Given the description of an element on the screen output the (x, y) to click on. 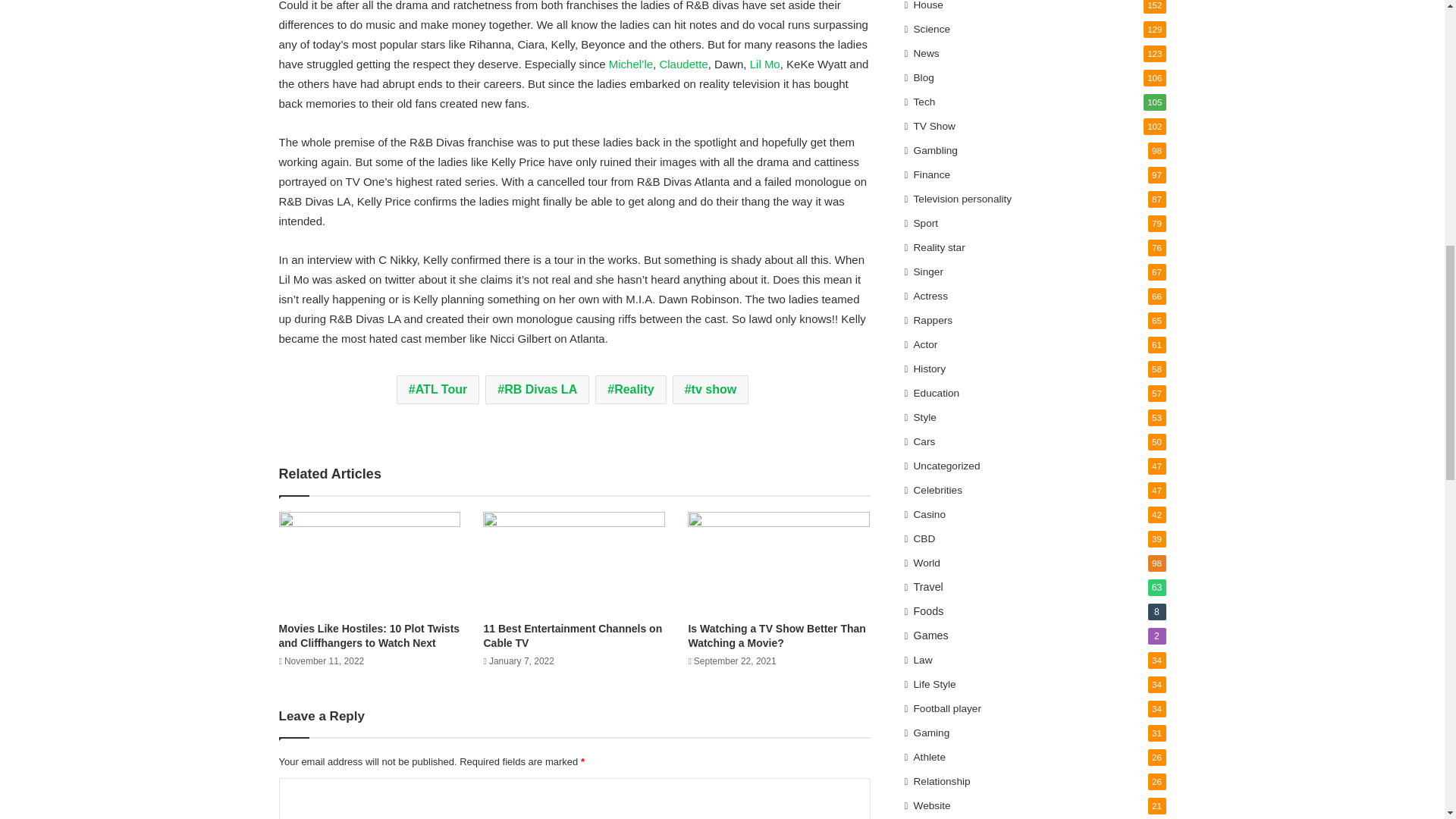
Reality (630, 389)
Lil Mo Net Worth (764, 63)
Claudette Ortiz (683, 63)
tv show (710, 389)
Lil Mo (764, 63)
RB Divas LA (536, 389)
11 Best Entertainment Channels on Cable TV (572, 635)
Claudette (683, 63)
Is Watching a TV Show Better Than Watching a Movie? (775, 635)
